Given the description of an element on the screen output the (x, y) to click on. 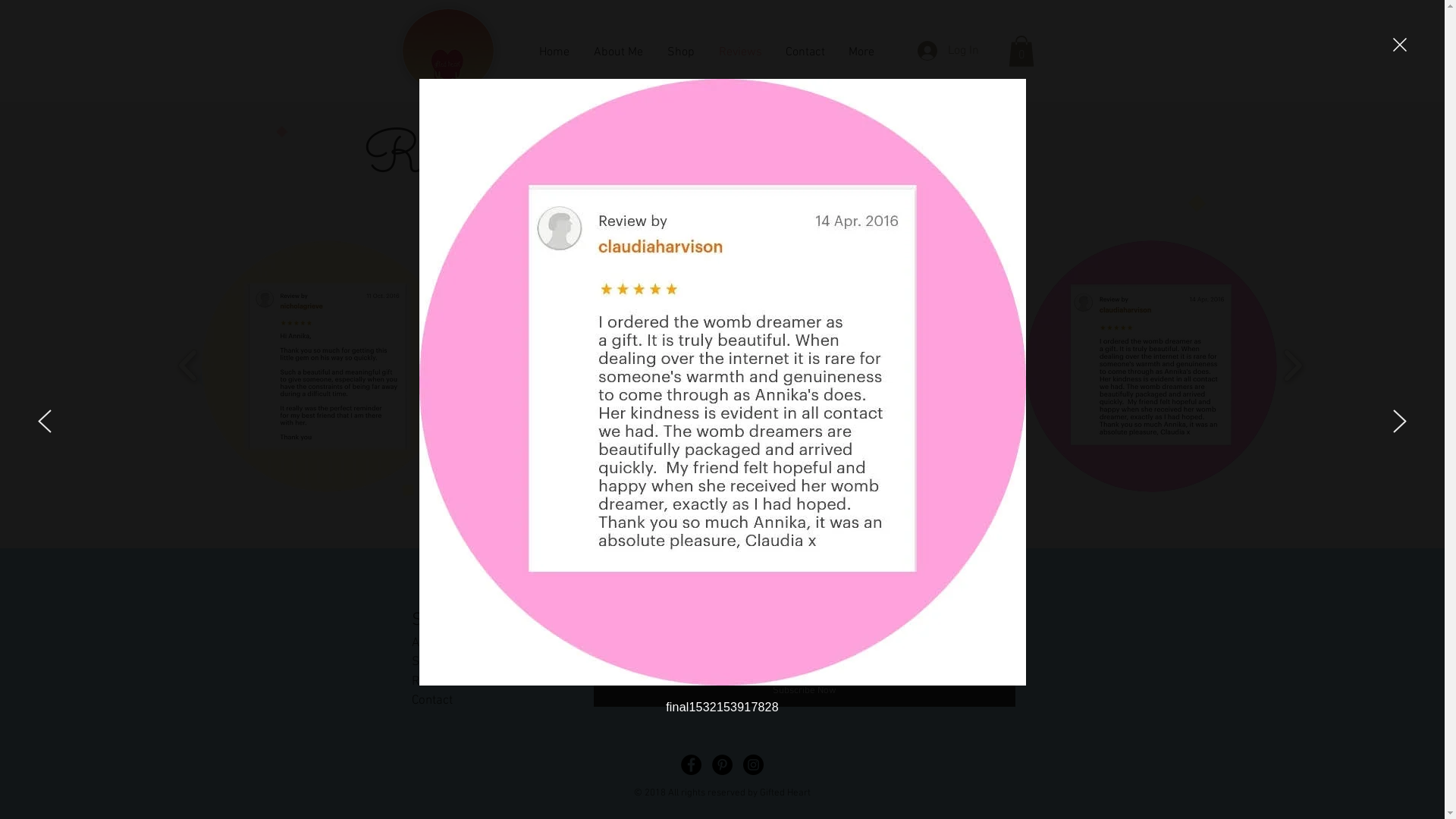
Reviews Element type: text (740, 50)
Log In Element type: text (947, 50)
Shop Element type: text (680, 50)
Subscribe Now Element type: text (803, 691)
Shop Element type: text (425, 661)
Reviews Element type: text (434, 680)
Contact Element type: text (431, 700)
About Me Element type: text (617, 50)
0 Element type: text (1021, 50)
Home Element type: text (553, 50)
About Me Element type: text (436, 642)
Contact Element type: text (804, 50)
